Given the description of an element on the screen output the (x, y) to click on. 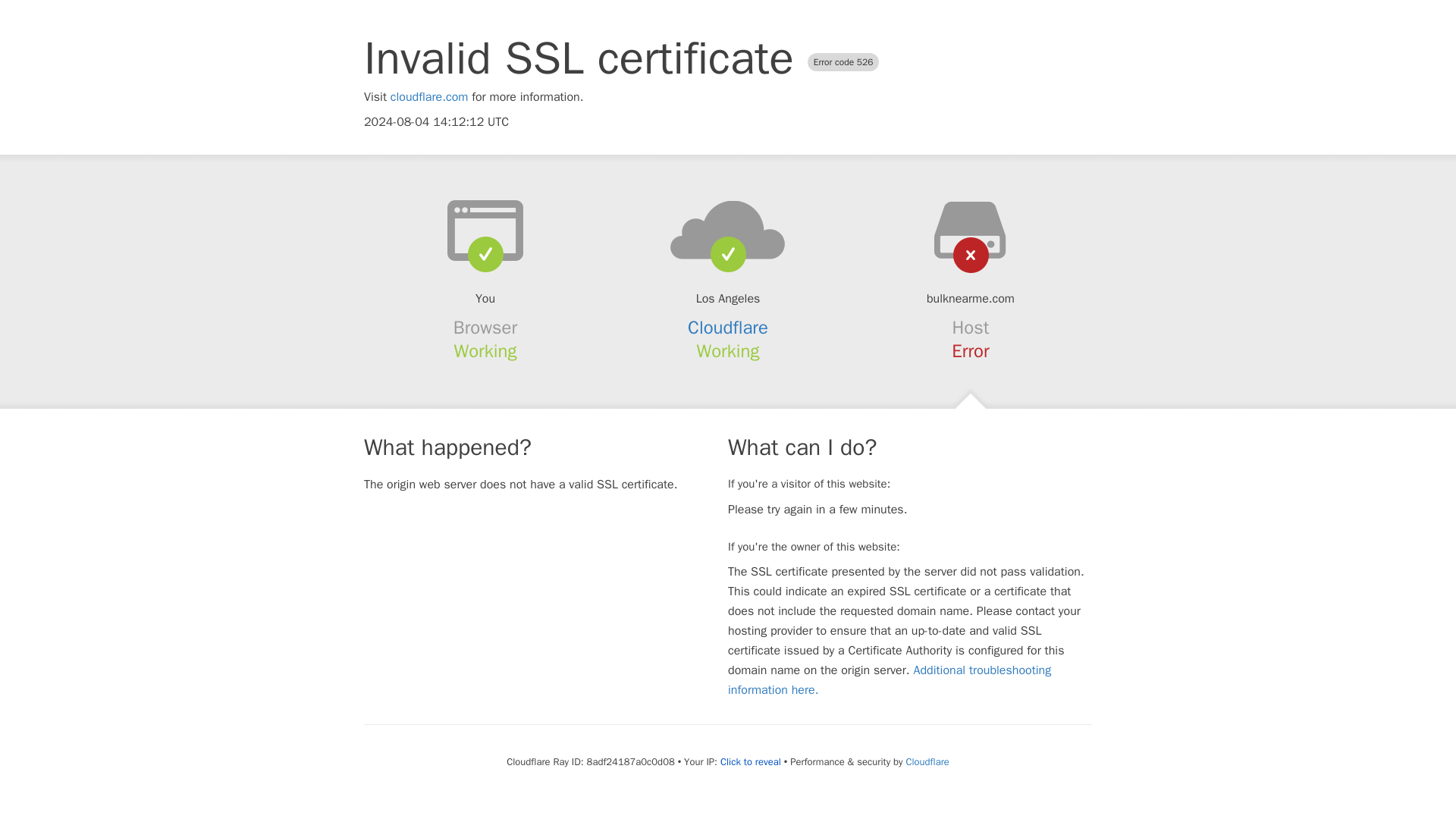
Click to reveal (750, 762)
Additional troubleshooting information here. (889, 679)
Cloudflare (727, 327)
Cloudflare (927, 761)
cloudflare.com (429, 96)
